Given the description of an element on the screen output the (x, y) to click on. 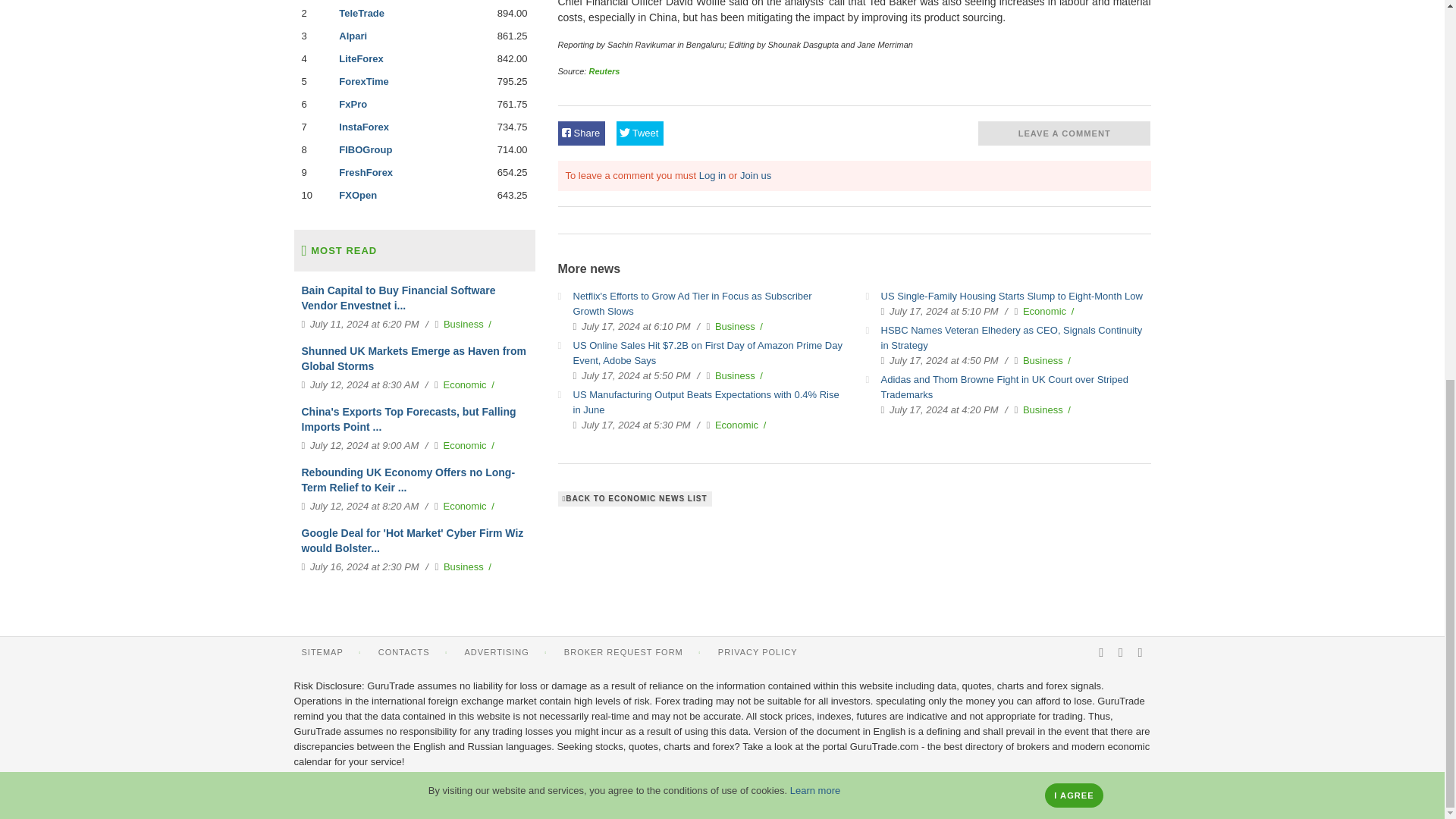
Facebook (1121, 652)
Twitter (1139, 652)
RSS (1101, 652)
Share on Twitter (639, 133)
Share on Facebook (581, 133)
